Given the description of an element on the screen output the (x, y) to click on. 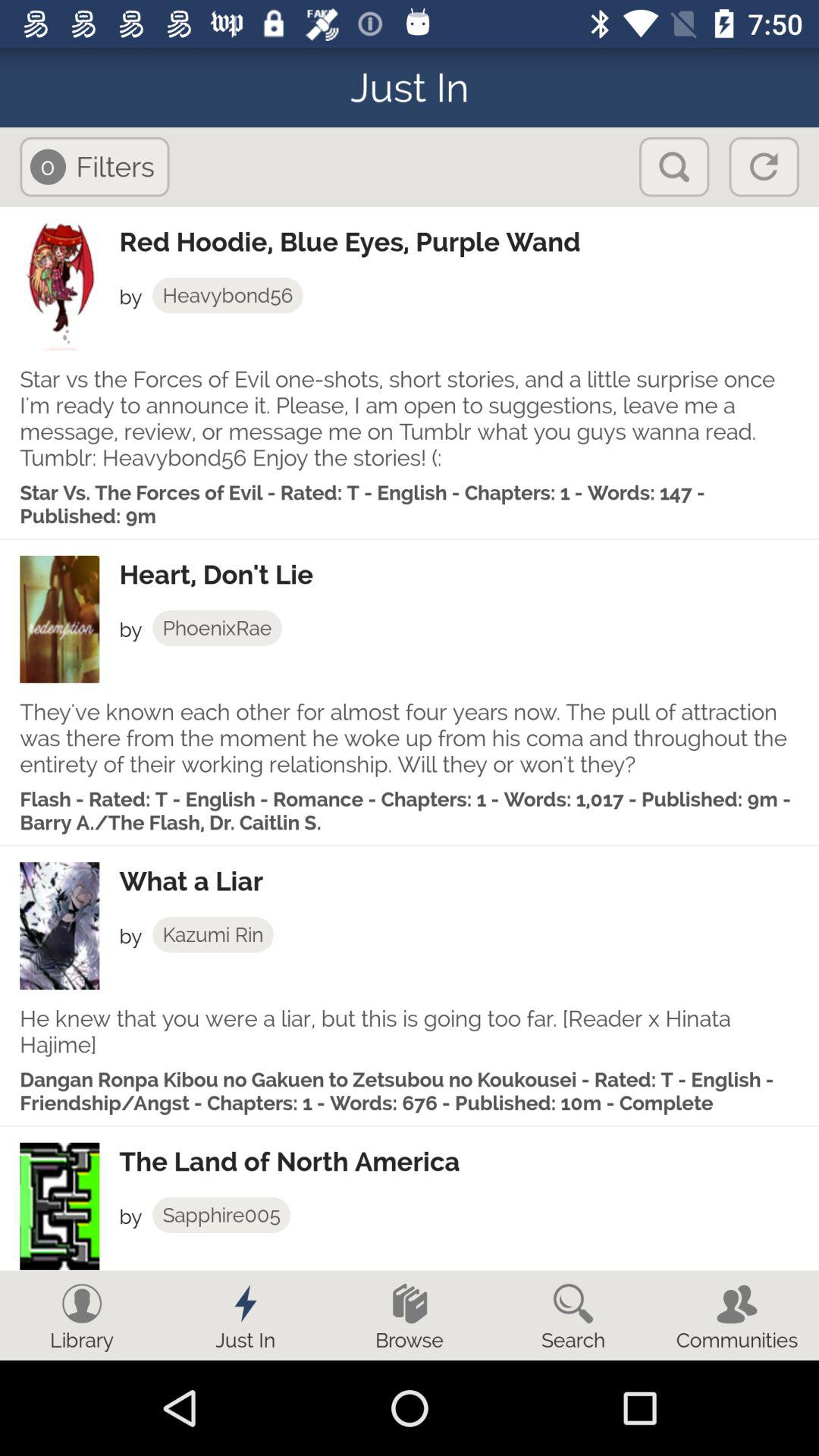
tap app below what a liar icon (212, 934)
